Given the description of an element on the screen output the (x, y) to click on. 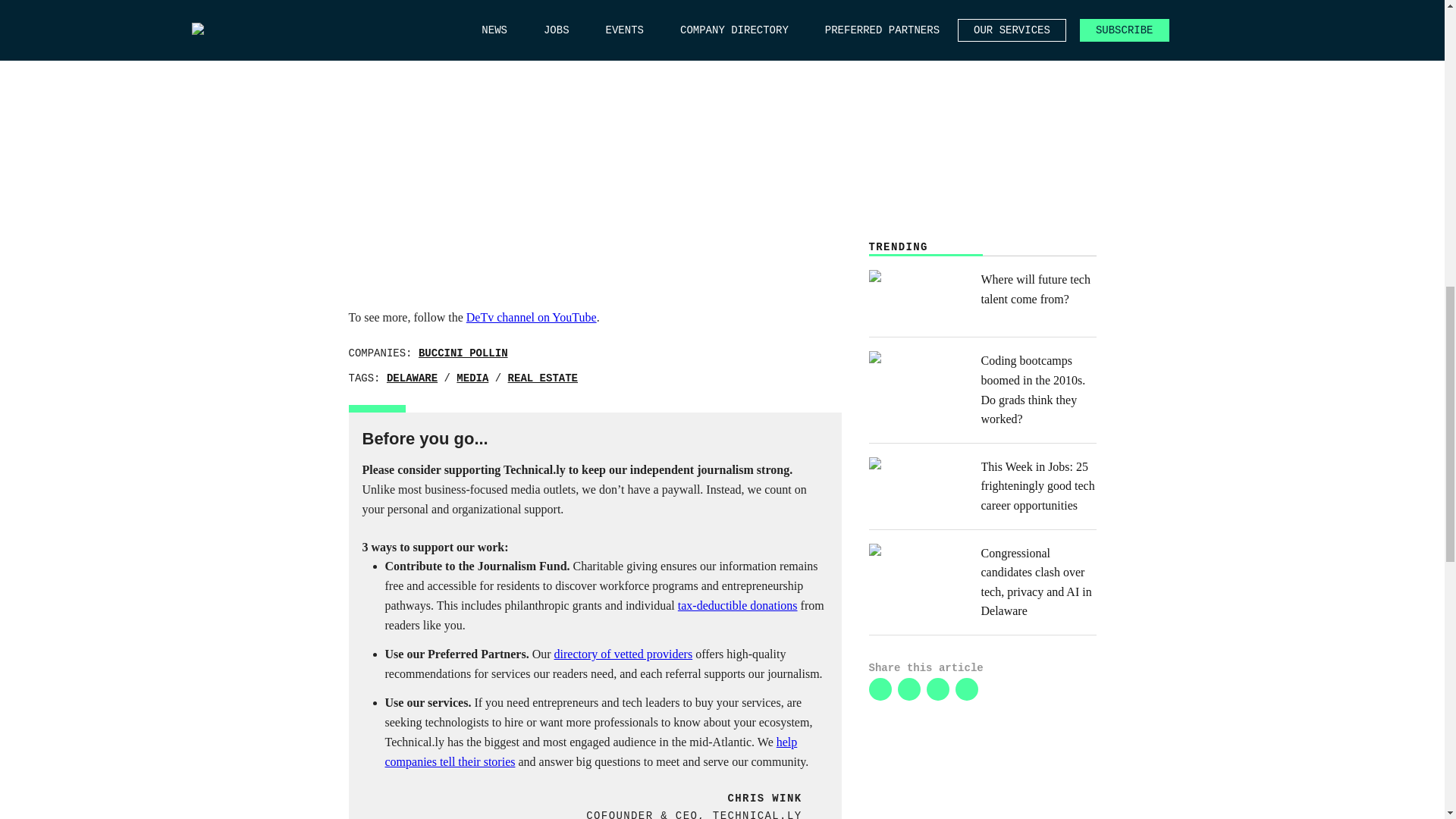
DELAWARE (412, 378)
Where will future tech talent come from? (982, 296)
Share to Twitter (909, 689)
Share to LinkedIn (880, 689)
Where will future tech talent come from? (982, 296)
